Given the description of an element on the screen output the (x, y) to click on. 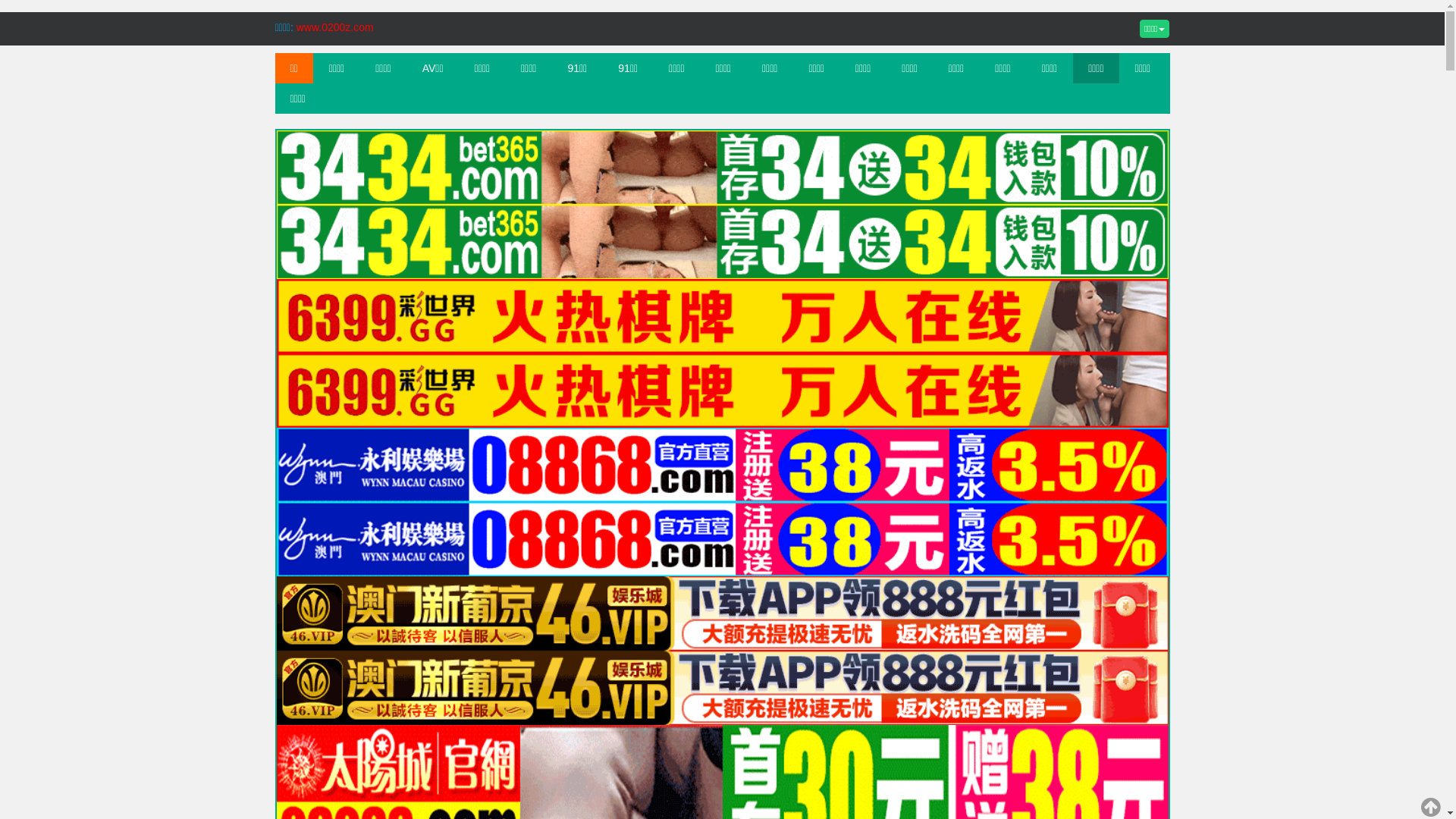
www.0200z.com Element type: text (334, 27)
